Given the description of an element on the screen output the (x, y) to click on. 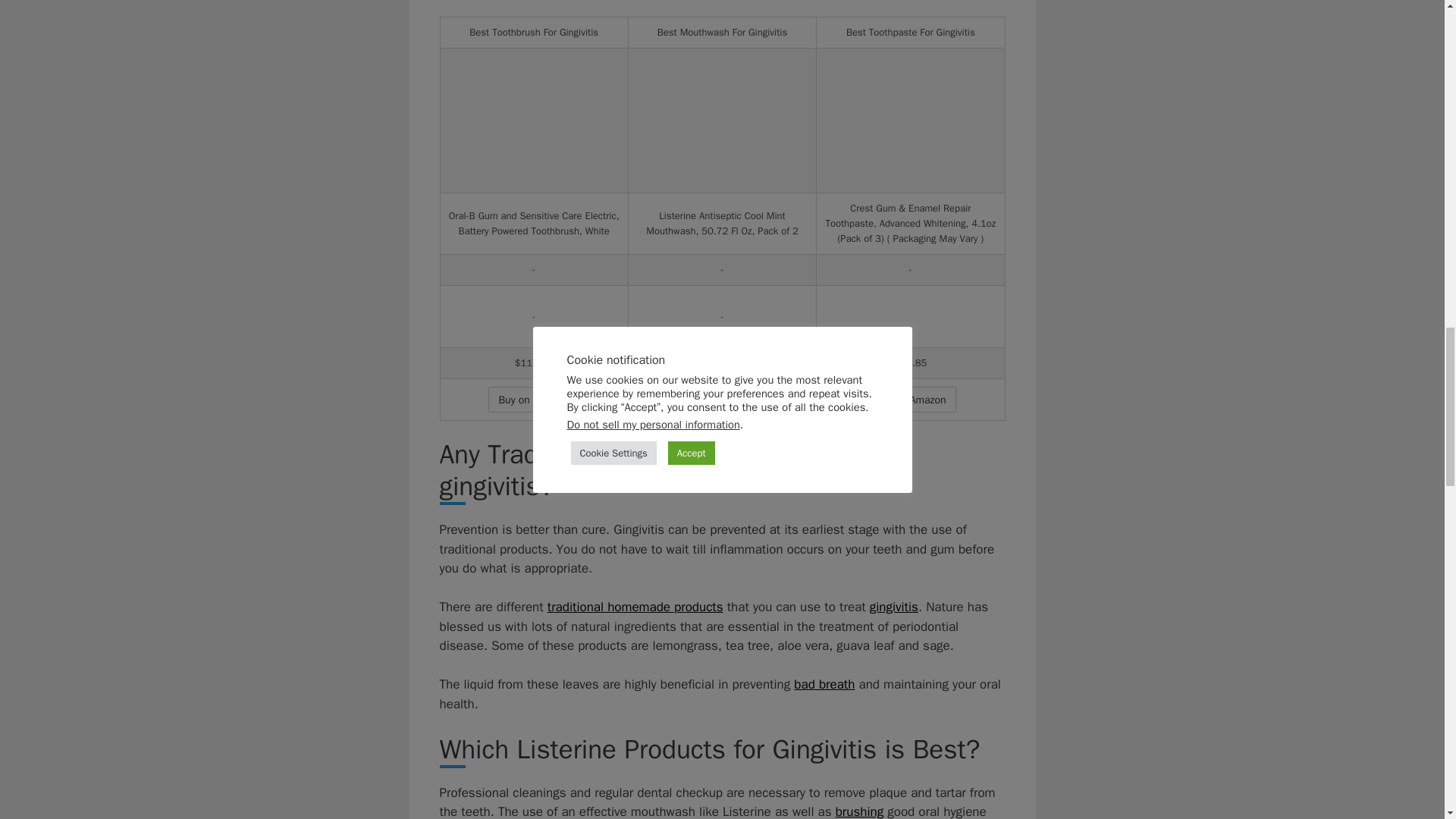
bad breath (823, 684)
Buy on Amazon (909, 399)
brushing (859, 811)
Buy on Amazon (532, 399)
traditional homemade products (635, 606)
Buy on Amazon (532, 399)
gingivitis (893, 606)
Amazon Prime (910, 331)
Buy on Amazon (722, 399)
Buy on Amazon (909, 399)
Buy on Amazon (722, 399)
